Given the description of an element on the screen output the (x, y) to click on. 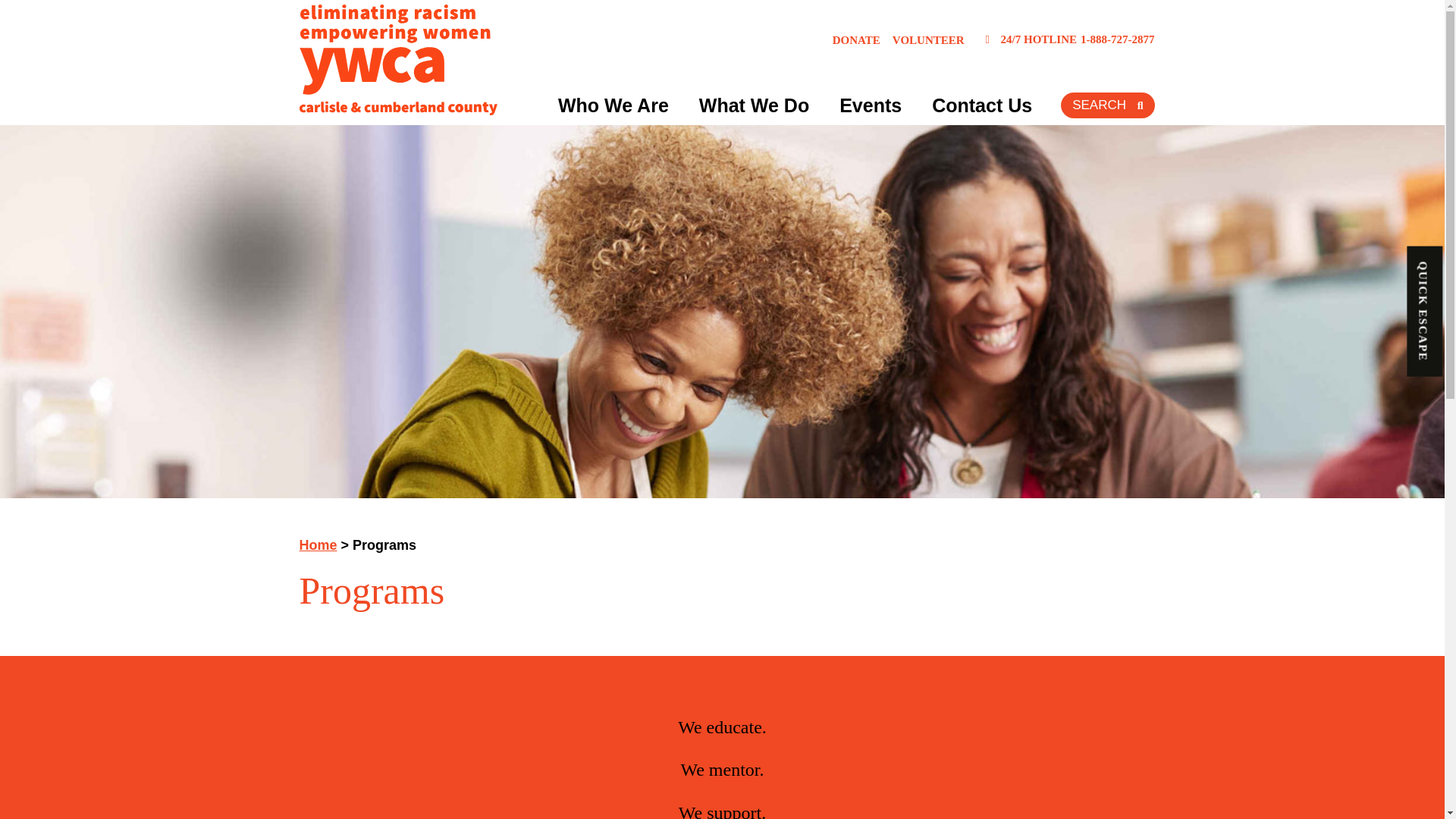
DONATE (856, 39)
Contact Us (981, 104)
1-888-727-2877 (1115, 39)
VOLUNTEER (927, 39)
Events (870, 104)
Who We Are (613, 104)
SEARCH (1107, 104)
What We Do (754, 104)
